Given the description of an element on the screen output the (x, y) to click on. 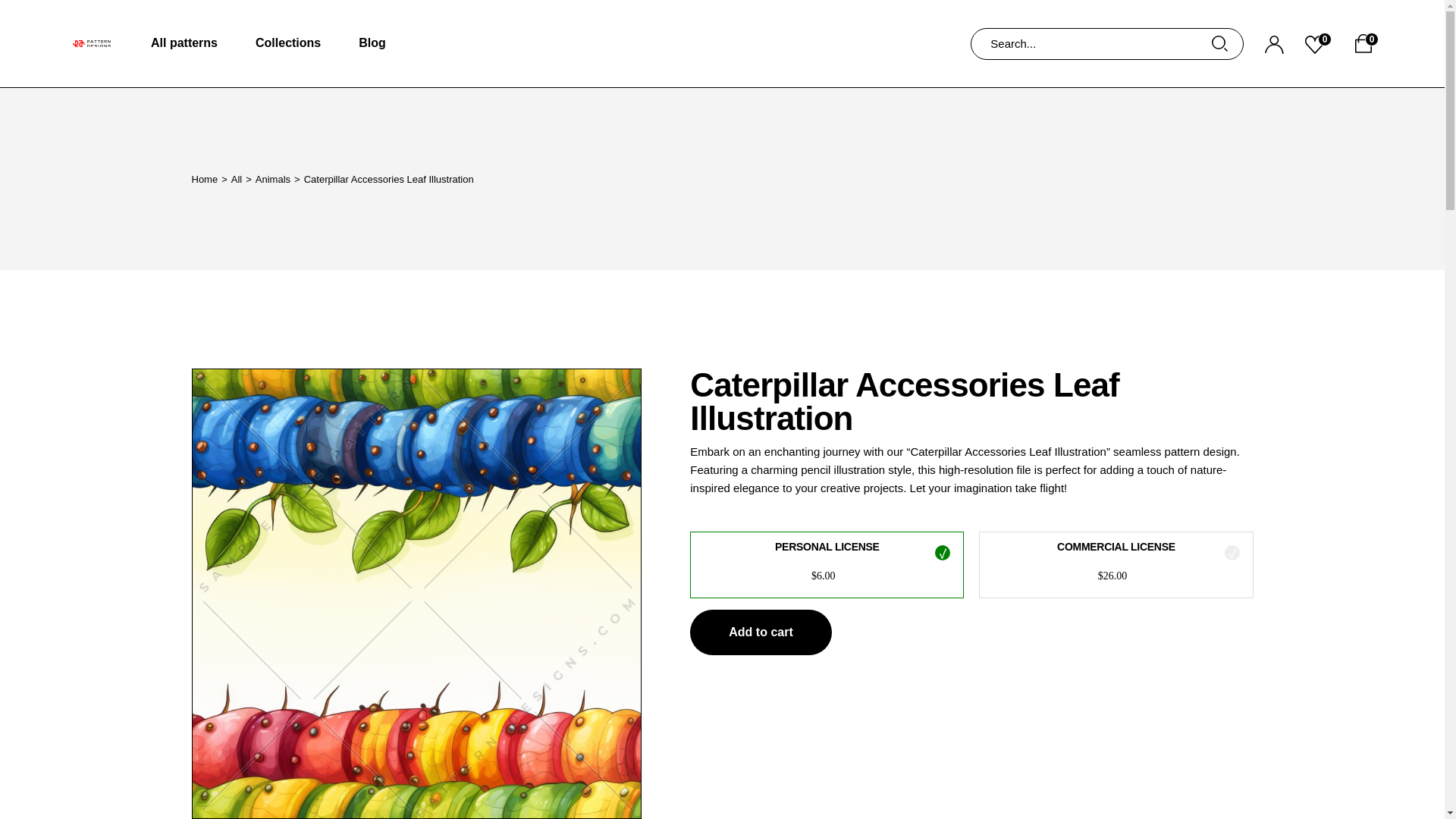
All (236, 178)
Collections (288, 43)
All patterns (184, 43)
Home (203, 178)
Add to cart (760, 632)
0 (1318, 43)
Animals (272, 178)
